Given the description of an element on the screen output the (x, y) to click on. 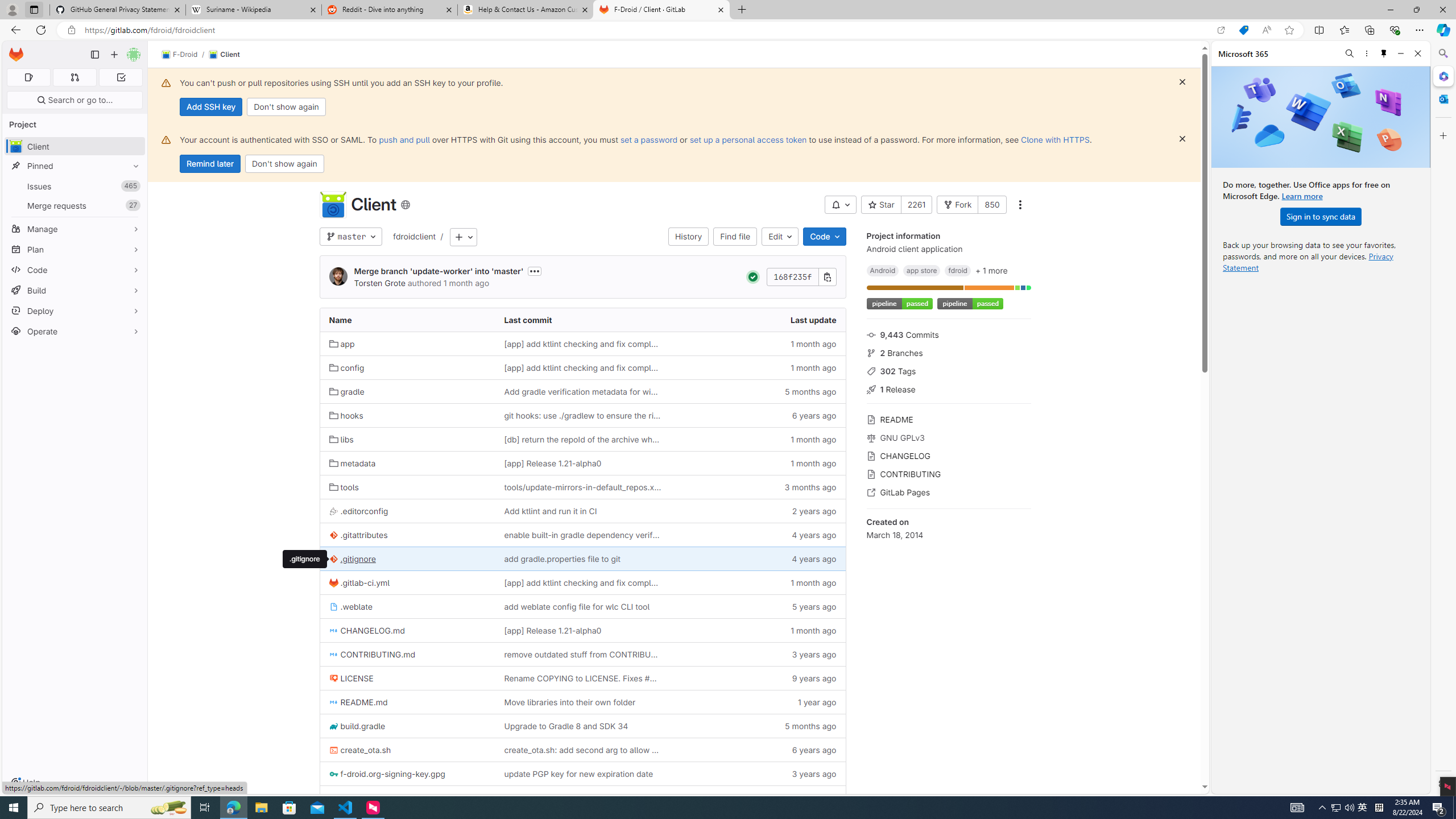
config (346, 367)
gradle (407, 391)
Add ktlint and run it in CI (583, 510)
CONTRIBUTING.md (407, 654)
Torsten Grote's avatar (338, 276)
update PGP key for new expiration date (578, 774)
Privacy Statement (1308, 261)
.editorconfig (358, 511)
Move libraries into their own folder (569, 702)
create_ota.sh (360, 749)
5 years ago (757, 606)
Add gradle verification metadata for windows (583, 391)
hooks (407, 414)
CHANGELOG (948, 455)
